Given the description of an element on the screen output the (x, y) to click on. 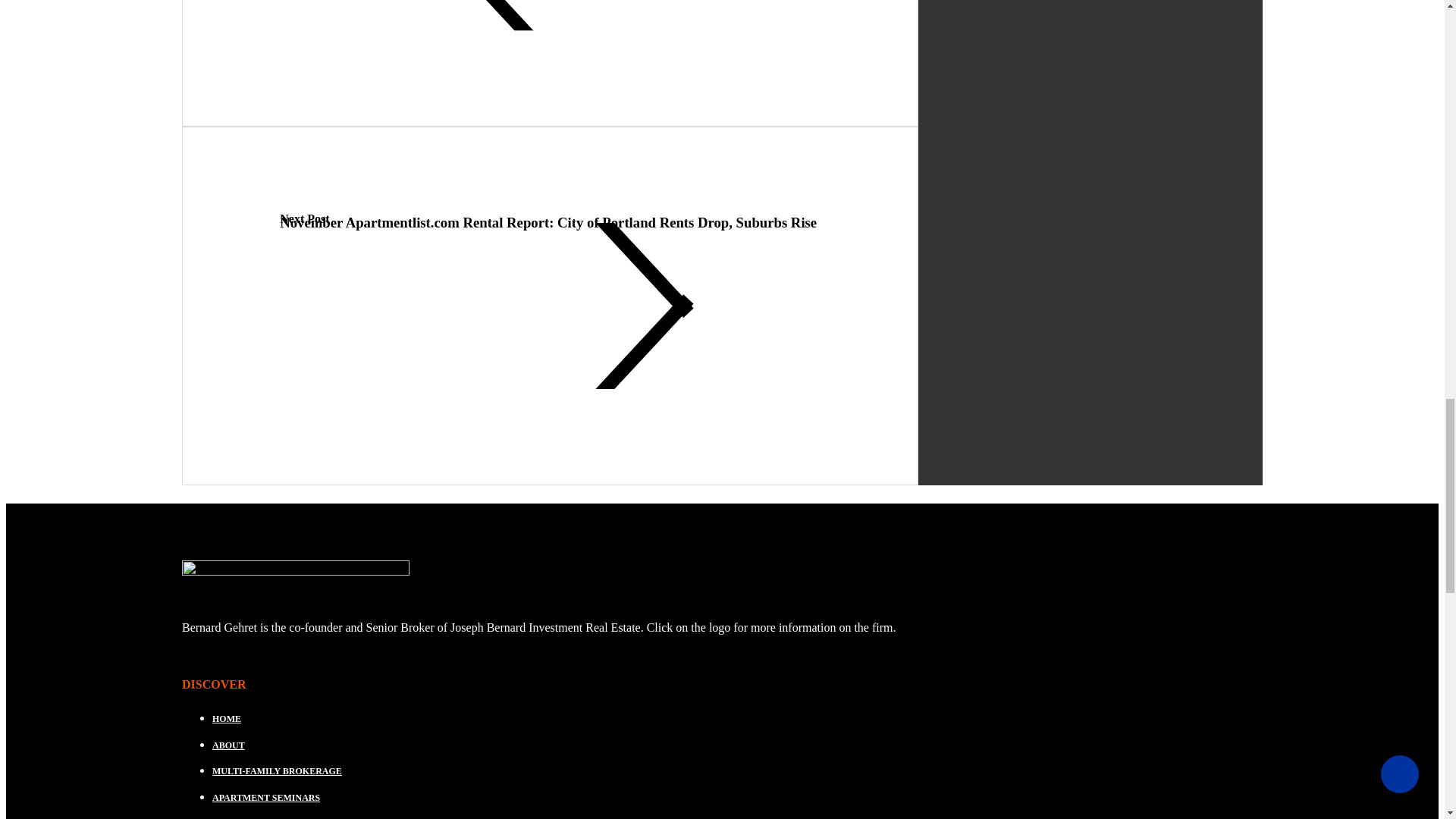
APARTMENT SEMINARS (737, 798)
MULTI-FAMILY BROKERAGE (737, 771)
HOME (737, 719)
ABOUT (737, 745)
